Given the description of an element on the screen output the (x, y) to click on. 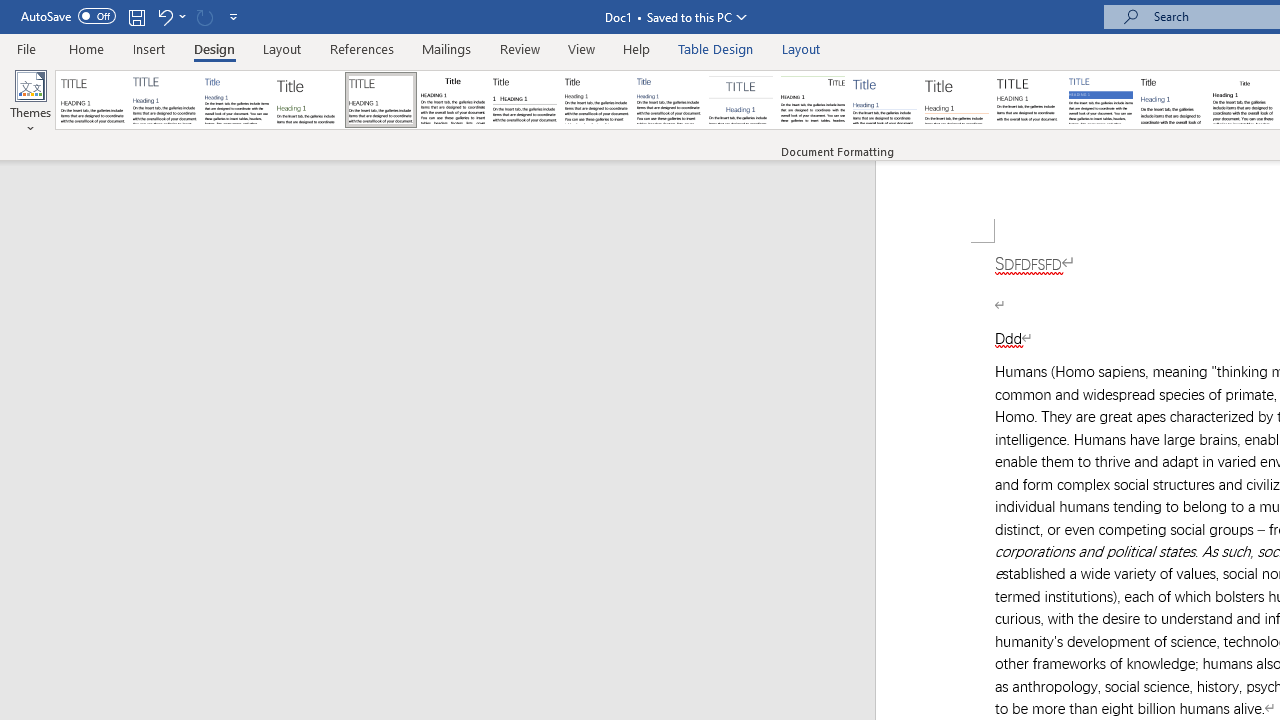
Shaded (1100, 100)
Design (214, 48)
Lines (Distinctive) (812, 100)
Themes (30, 102)
Quick Access Toolbar (131, 16)
File Tab (26, 48)
Black & White (Word 2013) (596, 100)
Undo Apply Quick Style Set (170, 15)
Help (637, 48)
Insert (149, 48)
Document (93, 100)
Lines (Stylish) (957, 100)
Black & White (Numbered) (524, 100)
Black & White (Classic) (452, 100)
Mailings (447, 48)
